Given the description of an element on the screen output the (x, y) to click on. 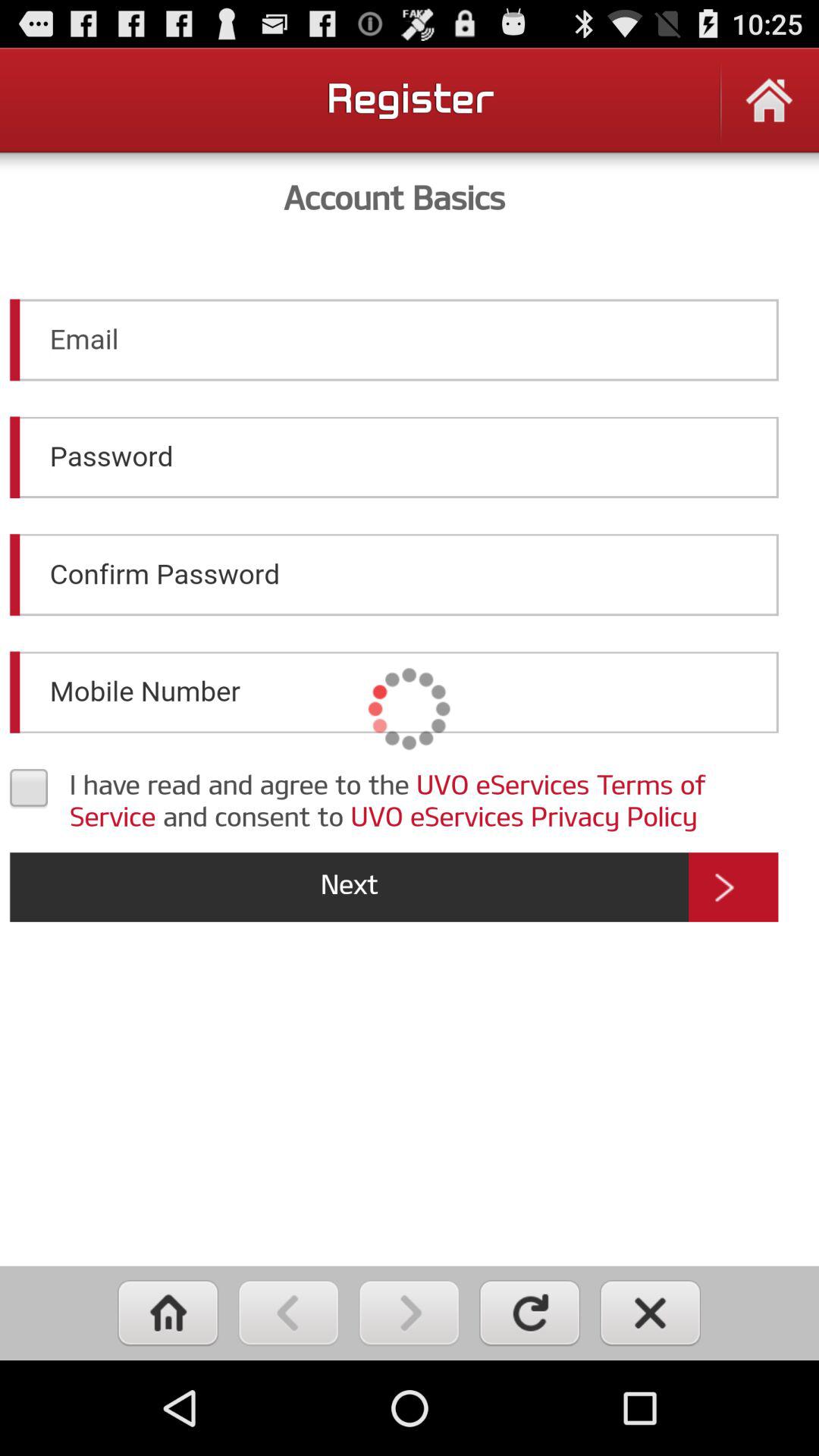
go to home page (769, 110)
